Given the description of an element on the screen output the (x, y) to click on. 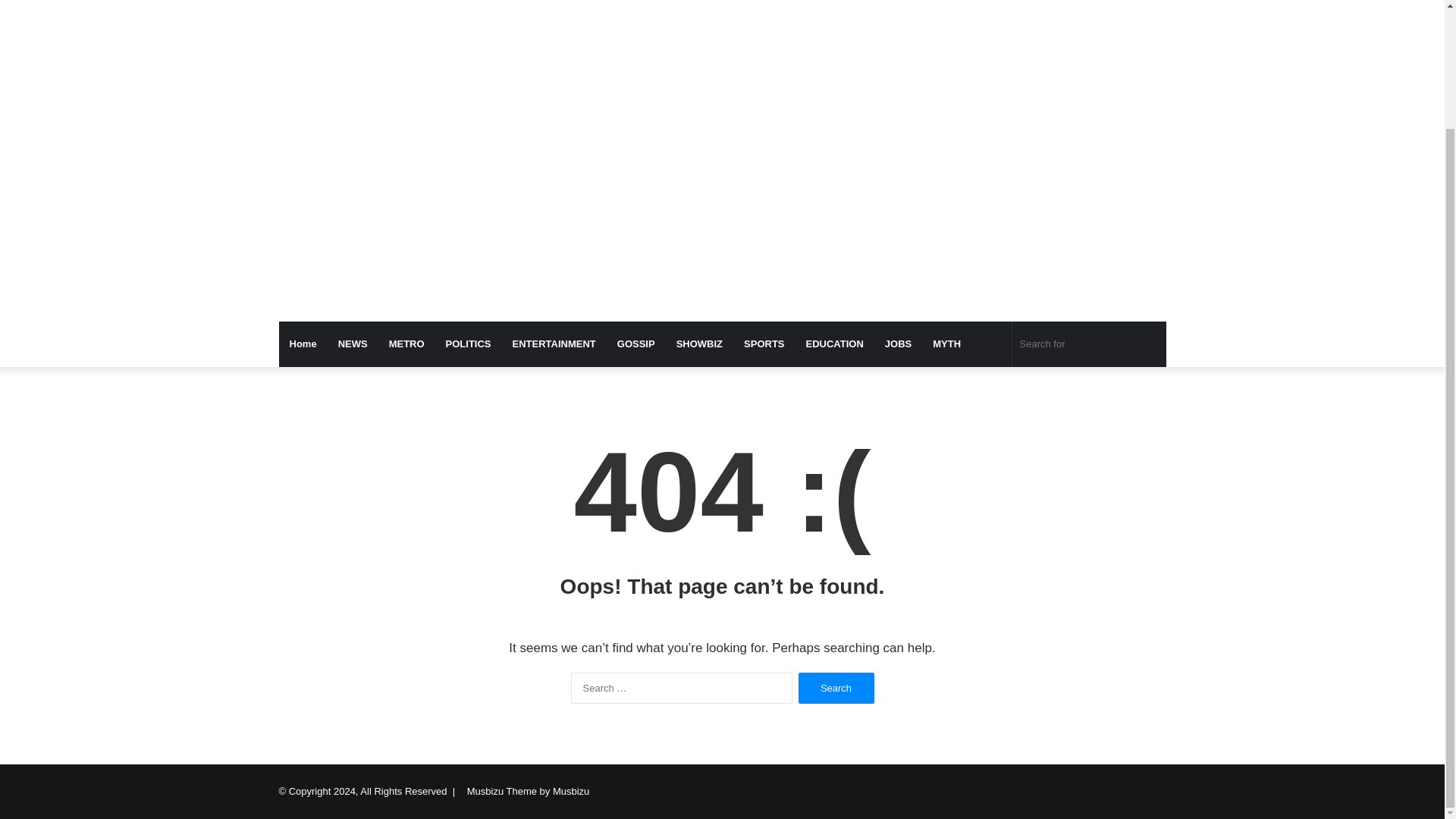
Home (303, 343)
Search for (1088, 343)
Search (835, 687)
EDUCATION (834, 343)
NEWS (352, 343)
MYTH (946, 343)
Musbizu (419, 4)
METRO (406, 343)
Musbizu Theme by Musbizu (528, 790)
POLITICS (468, 343)
Search (835, 687)
Search (835, 687)
SHOWBIZ (699, 343)
GOSSIP (636, 343)
